Given the description of an element on the screen output the (x, y) to click on. 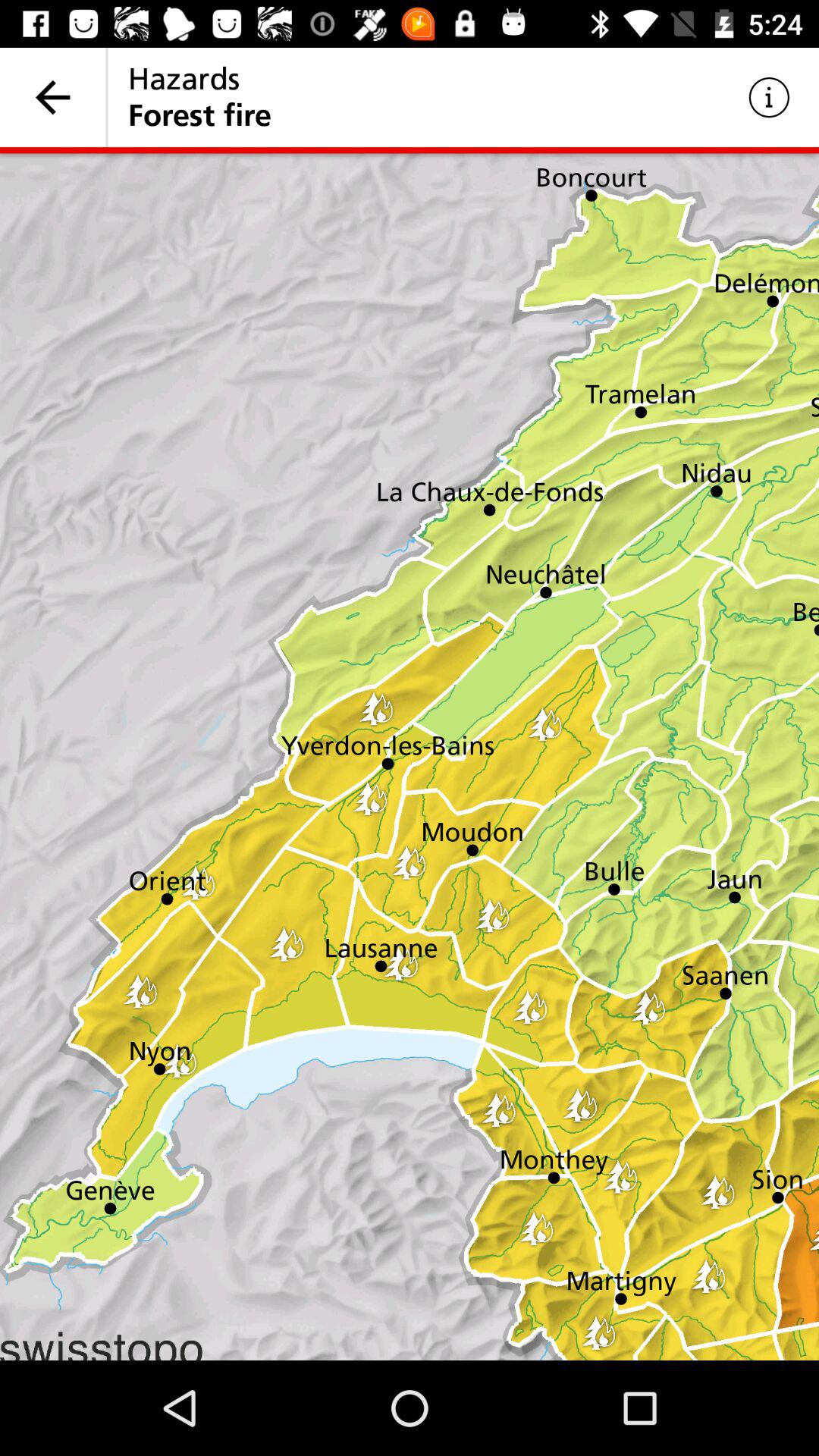
choose icon at the top right corner (769, 97)
